Given the description of an element on the screen output the (x, y) to click on. 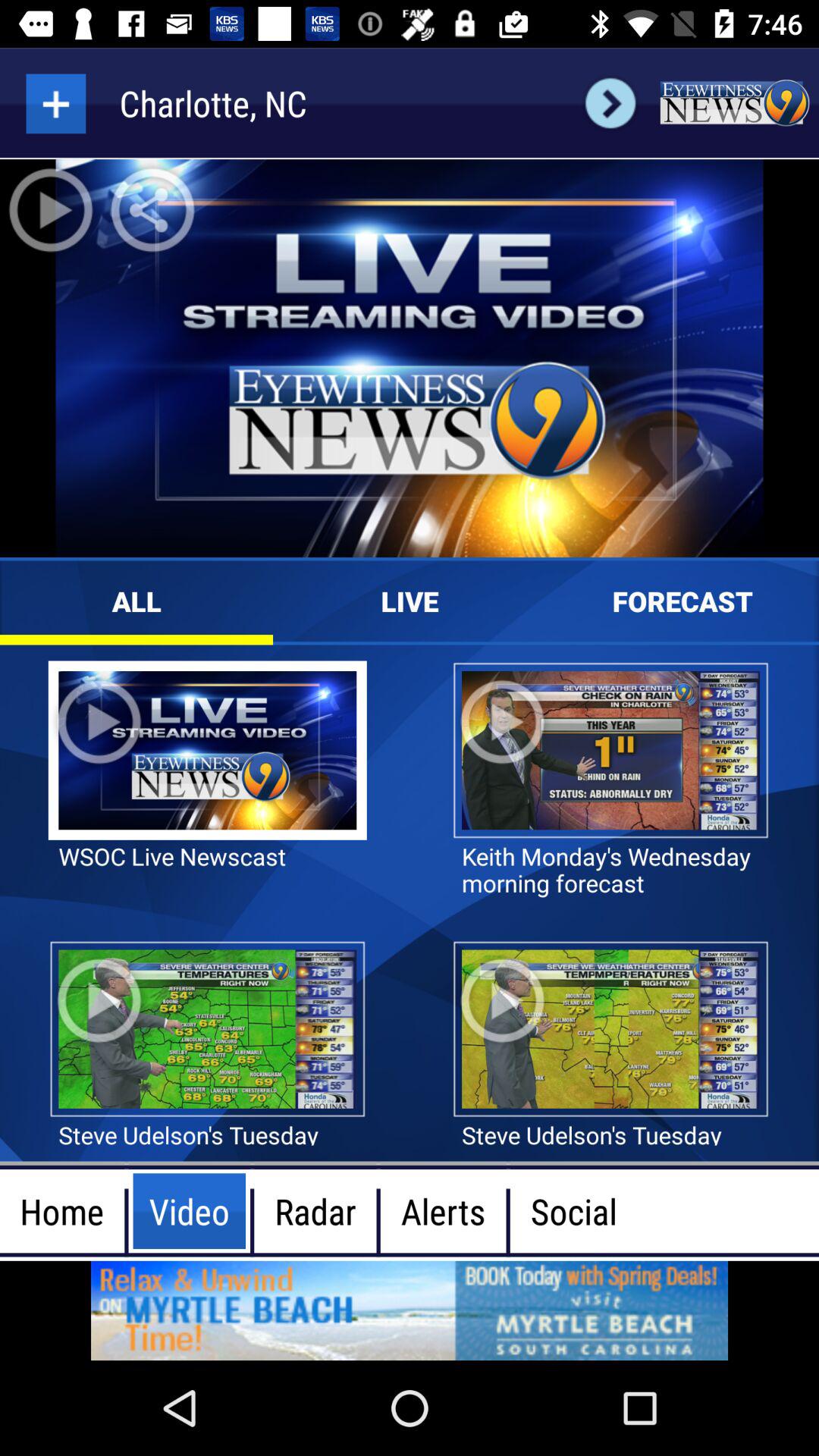
view latest headlines (734, 103)
